Given the description of an element on the screen output the (x, y) to click on. 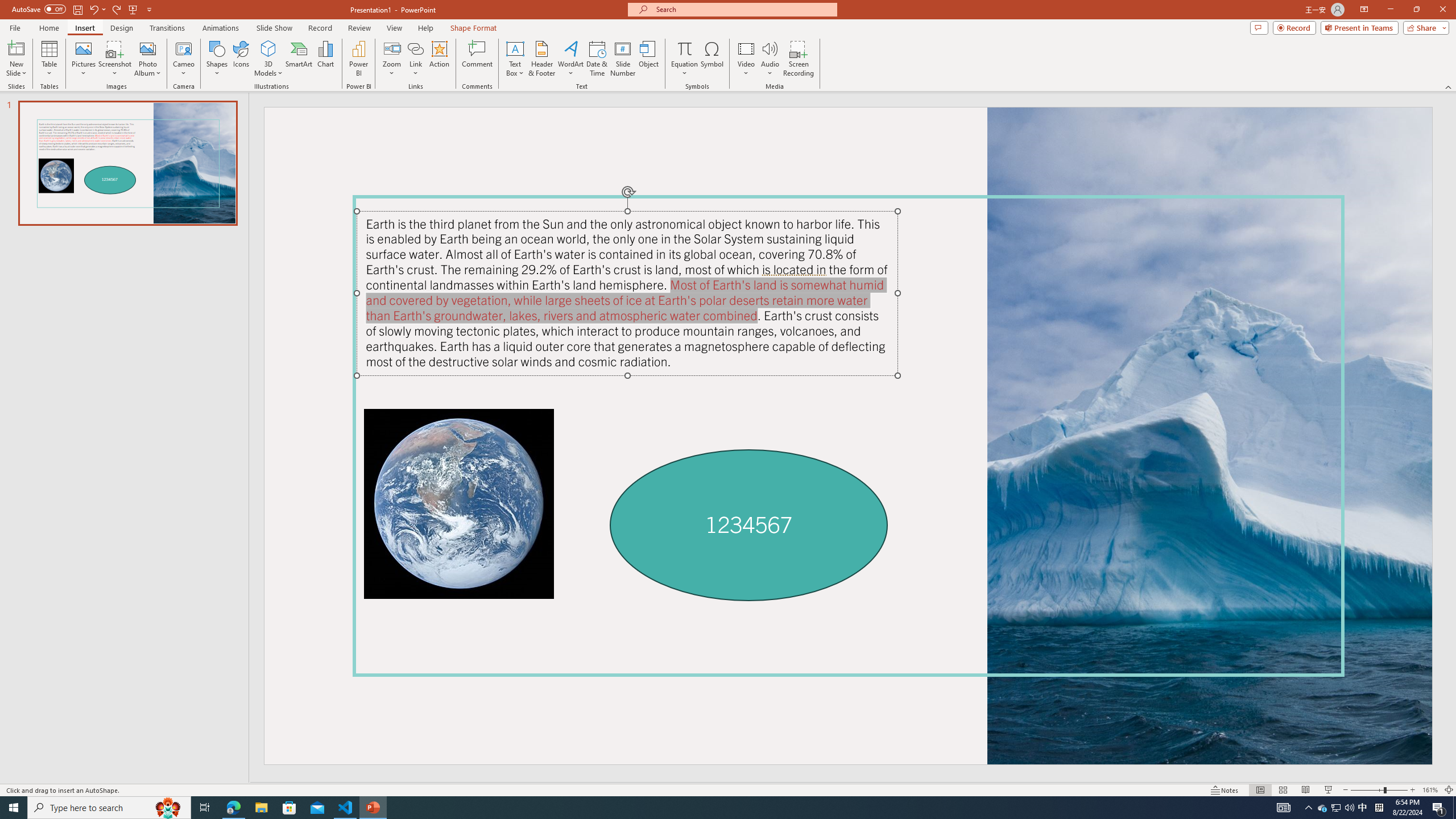
Equation (683, 48)
SmartArt... (298, 58)
Link (415, 48)
Video (745, 58)
3D Models (268, 48)
Symbol... (711, 58)
Chart... (325, 58)
Screen Recording... (798, 58)
